Given the description of an element on the screen output the (x, y) to click on. 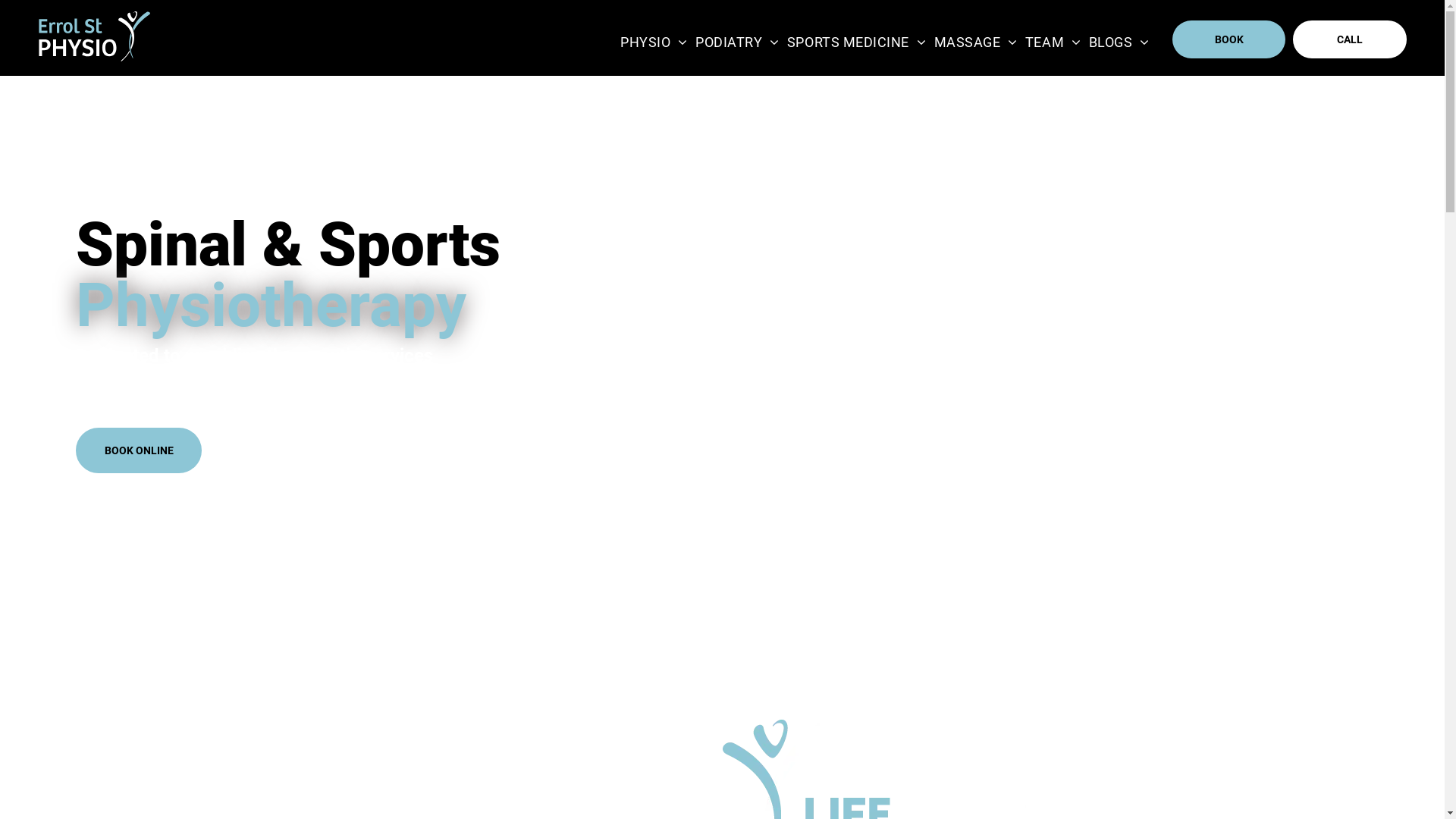
BOOK Element type: text (1229, 39)
PODIATRY Element type: text (737, 42)
BOOK ONLINE Element type: text (138, 450)
MASSAGE Element type: text (975, 42)
TEAM Element type: text (1053, 42)
CALL Element type: text (1349, 39)
PHYSIO Element type: text (653, 42)
SPORTS MEDICINE Element type: text (856, 42)
BLOGS Element type: text (1119, 42)
